Given the description of an element on the screen output the (x, y) to click on. 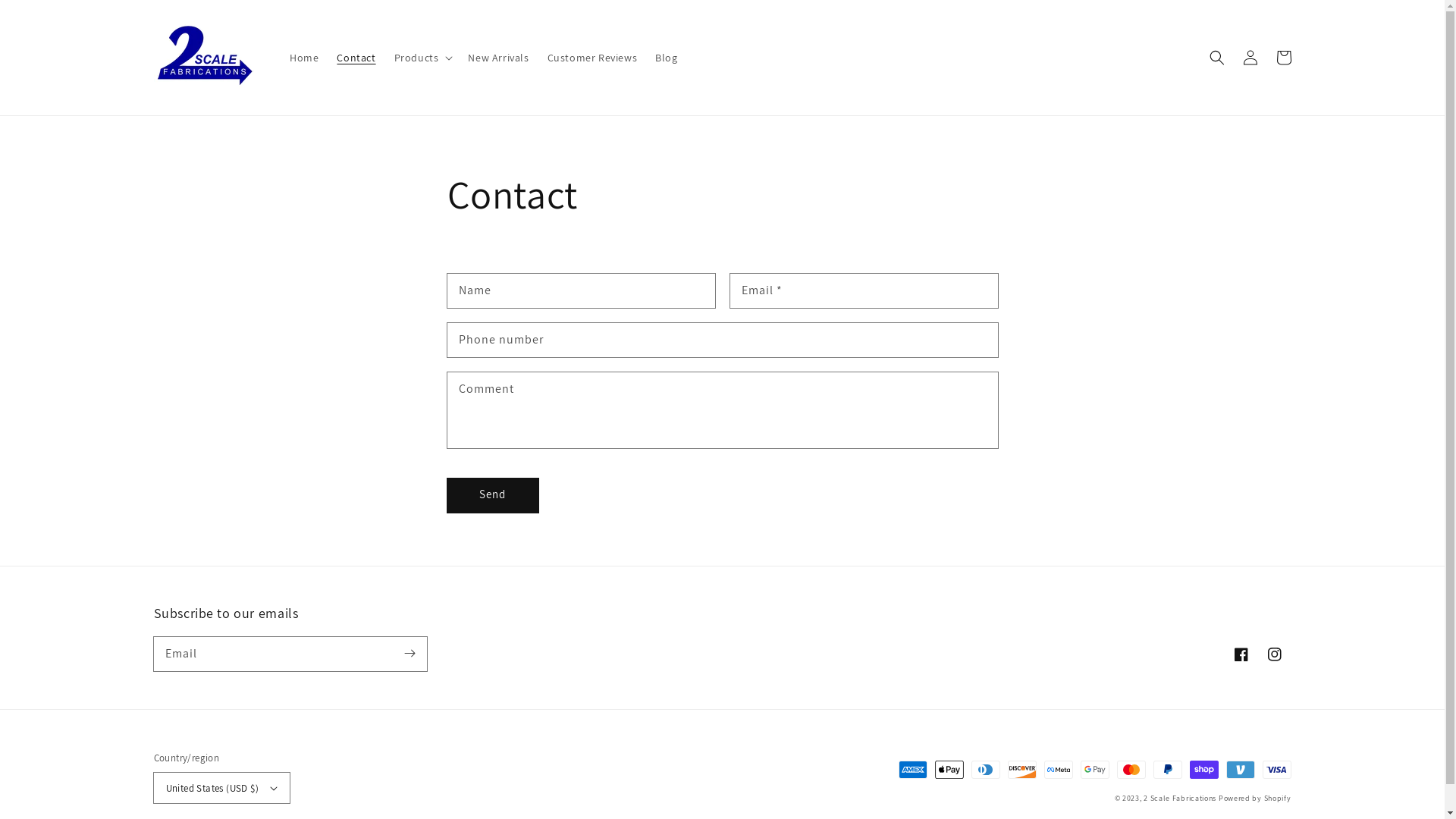
Customer Reviews Element type: text (592, 57)
Instagram Element type: text (1273, 654)
Cart Element type: text (1282, 57)
2 Scale Fabrications Element type: text (1179, 798)
Blog Element type: text (666, 57)
Contact Element type: text (355, 57)
Powered by Shopify Element type: text (1254, 798)
Facebook Element type: text (1240, 654)
New Arrivals Element type: text (497, 57)
Home Element type: text (303, 57)
Send Element type: text (492, 495)
Log in Element type: text (1249, 57)
United States (USD $) Element type: text (220, 787)
